Given the description of an element on the screen output the (x, y) to click on. 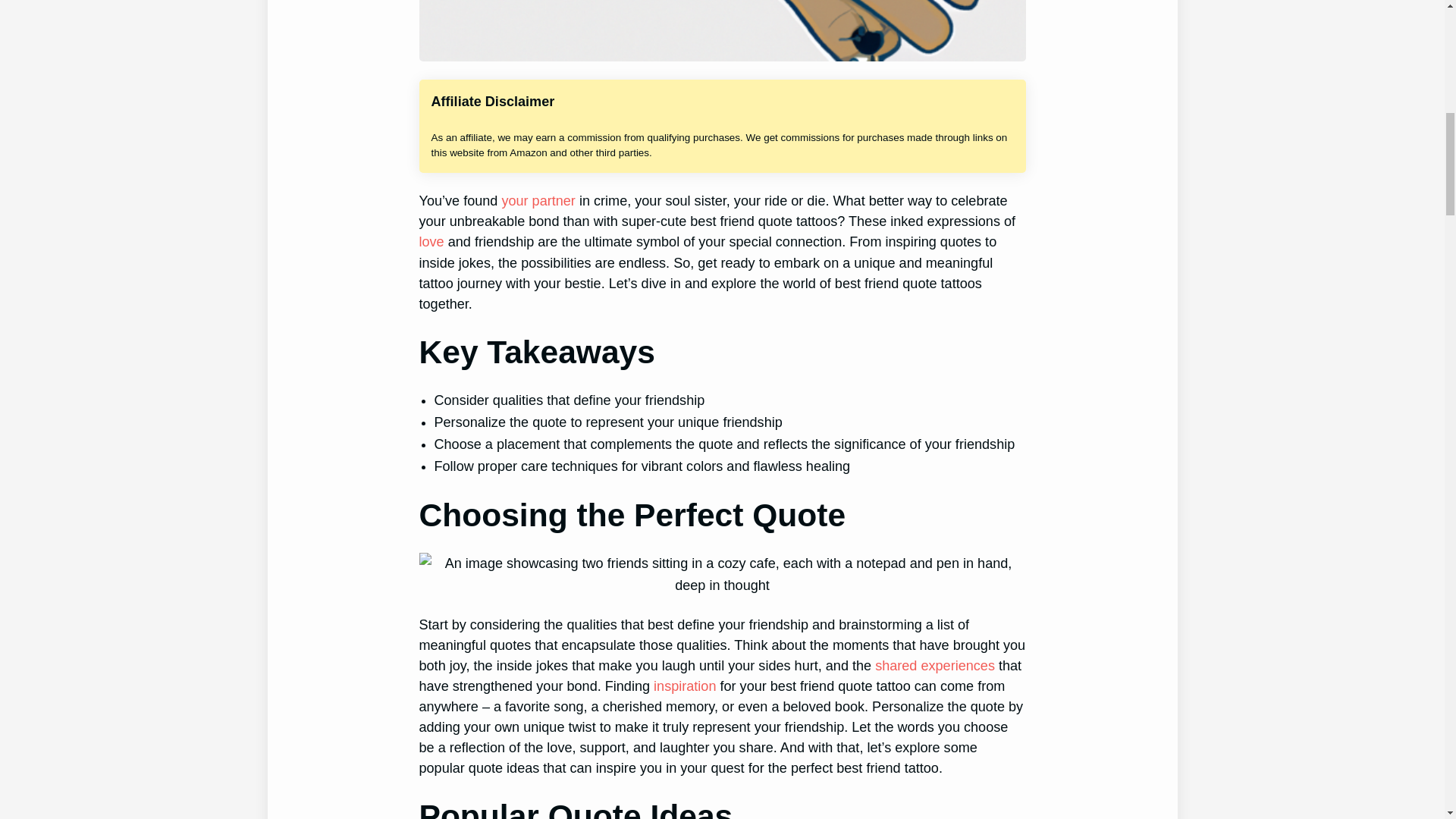
shared experiences (934, 665)
your partner (537, 200)
inspiration (684, 685)
shared experiences (934, 665)
love (431, 241)
your partner (537, 200)
love (431, 241)
inspiration (684, 685)
